Given the description of an element on the screen output the (x, y) to click on. 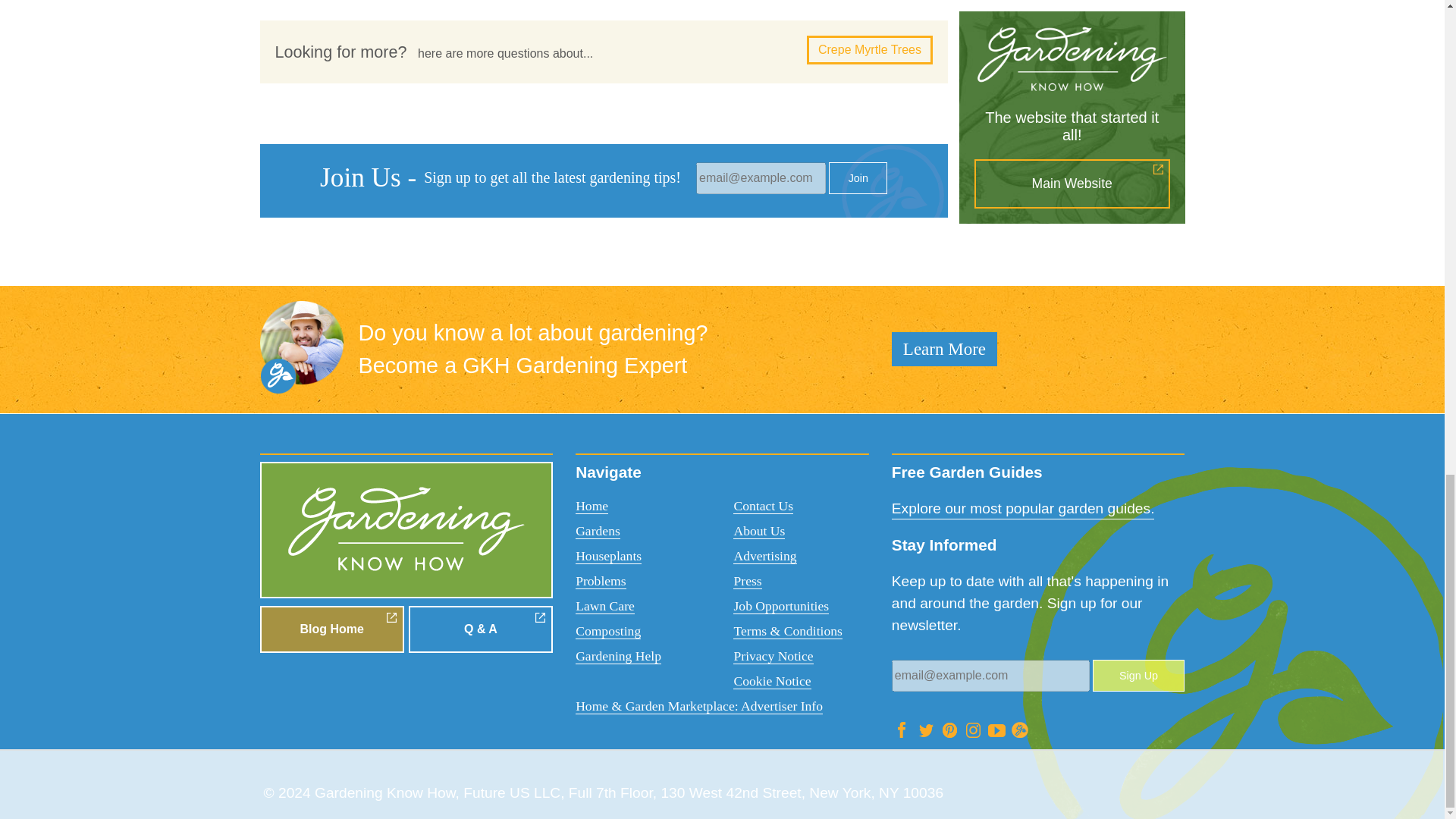
Join (857, 178)
Crepe Myrtle Trees (869, 50)
